Given the description of an element on the screen output the (x, y) to click on. 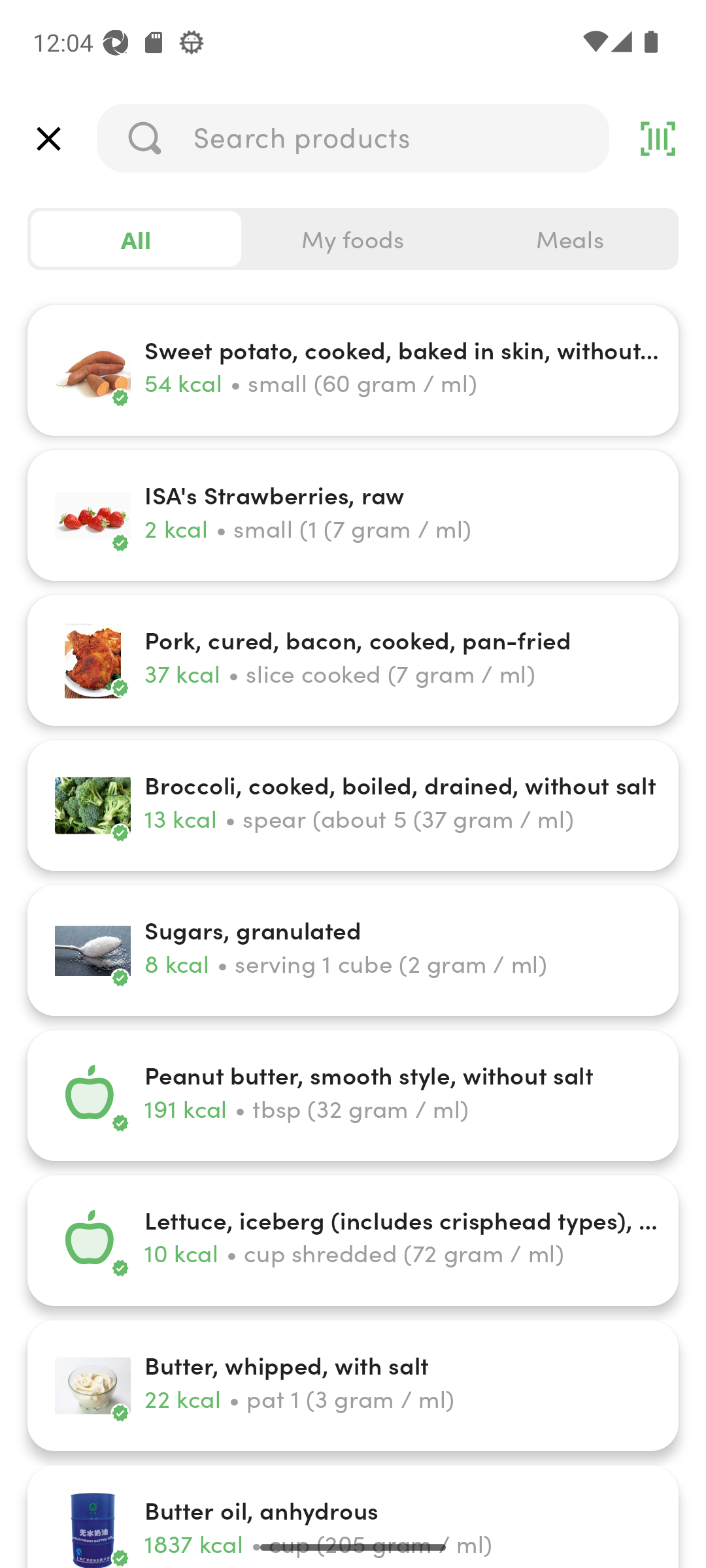
top_left_action (48, 138)
top_right_action (658, 138)
My foods (352, 238)
Meals (569, 238)
